Given the description of an element on the screen output the (x, y) to click on. 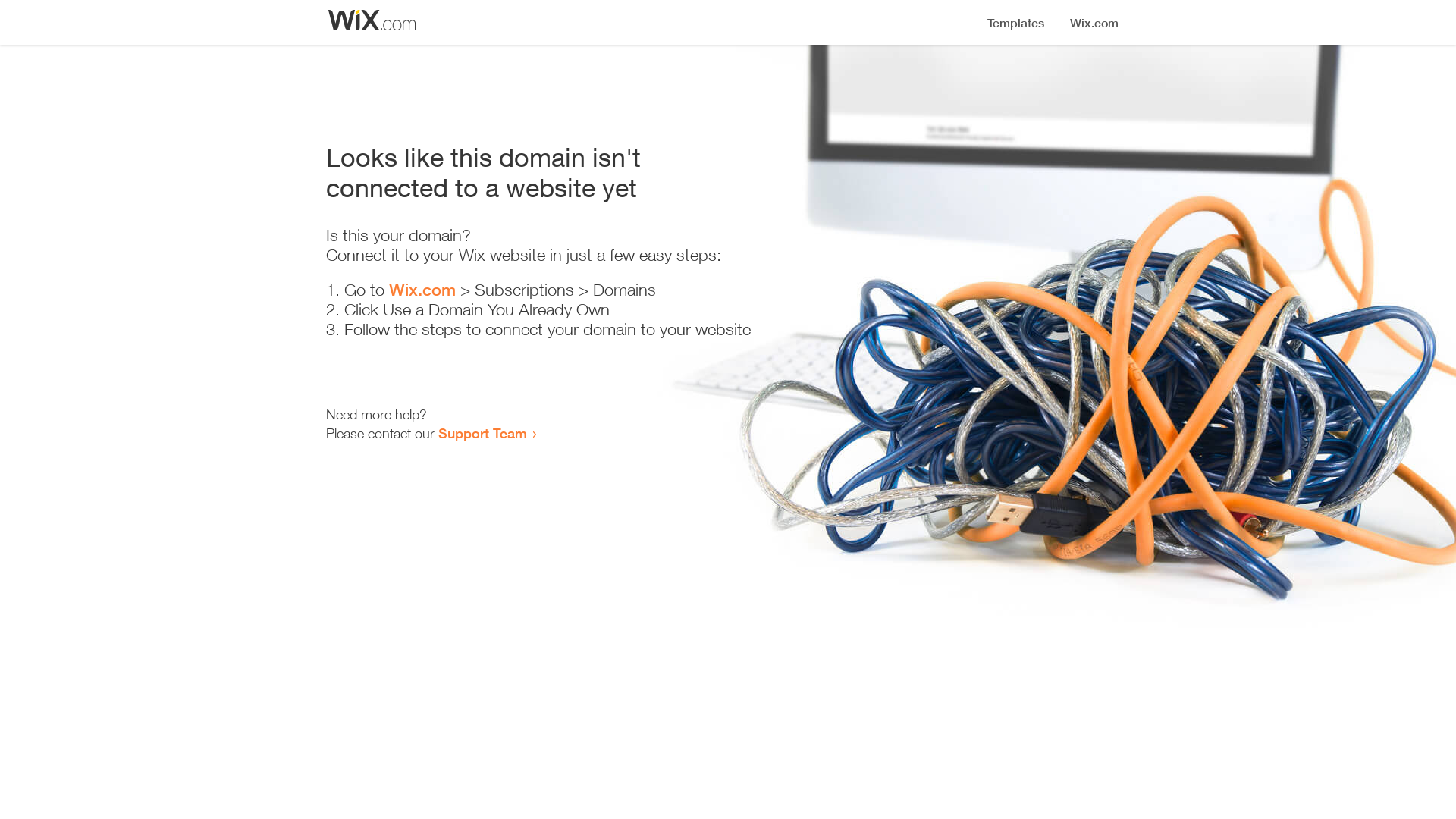
Wix.com Element type: text (422, 289)
Support Team Element type: text (482, 432)
